Given the description of an element on the screen output the (x, y) to click on. 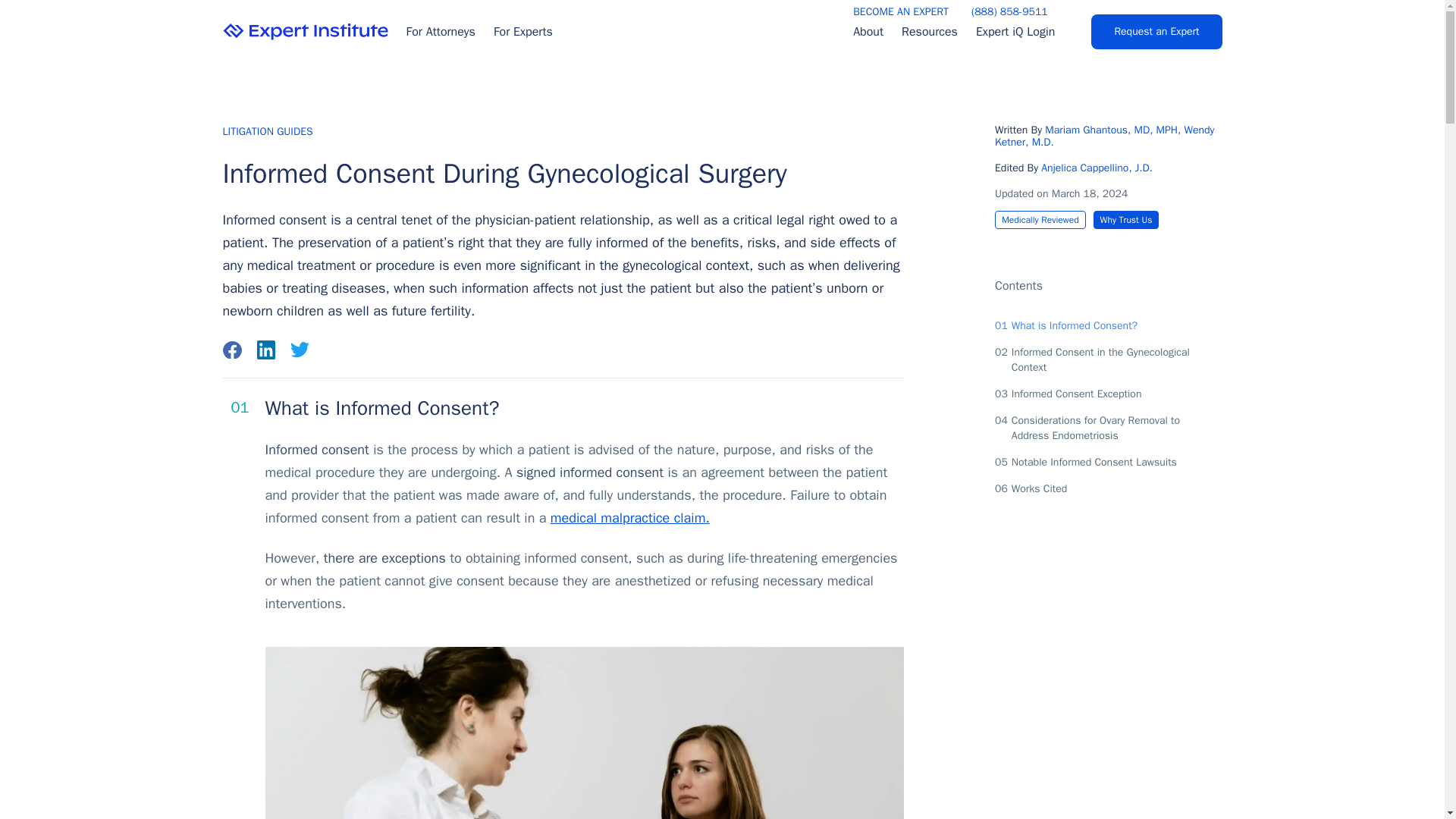
medical malpractice claim. (630, 517)
Request an Expert (1155, 31)
Wendy Ketner, M.D. (1104, 137)
Why Trust Us (1099, 325)
Anjelica Cappellino, J.D. (1125, 219)
BECOME AN EXPERT (1099, 427)
Mariam Ghantous, MD, MPH, (1097, 169)
